Given the description of an element on the screen output the (x, y) to click on. 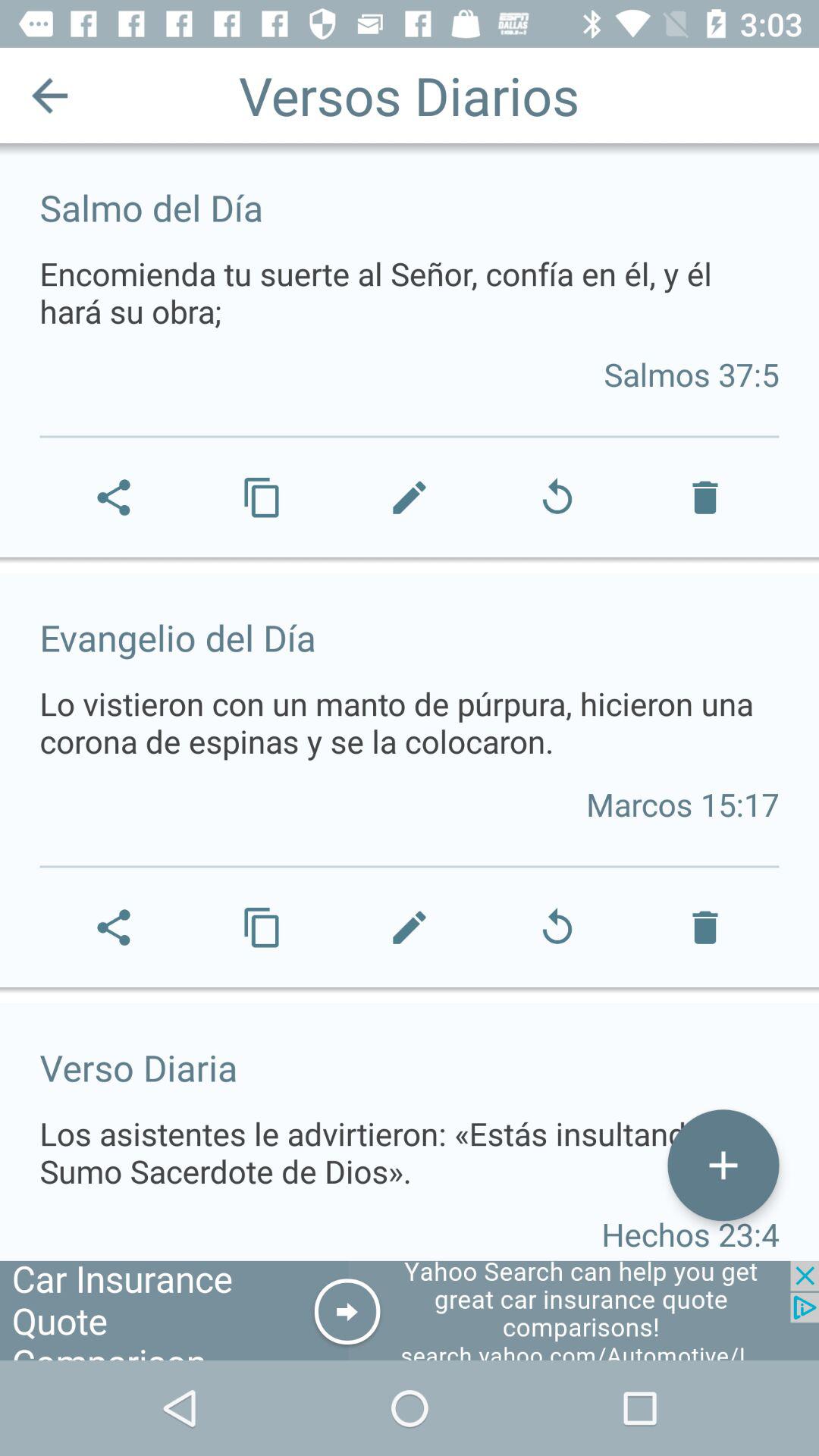
launch icon to the left of versos diarios (49, 95)
